Given the description of an element on the screen output the (x, y) to click on. 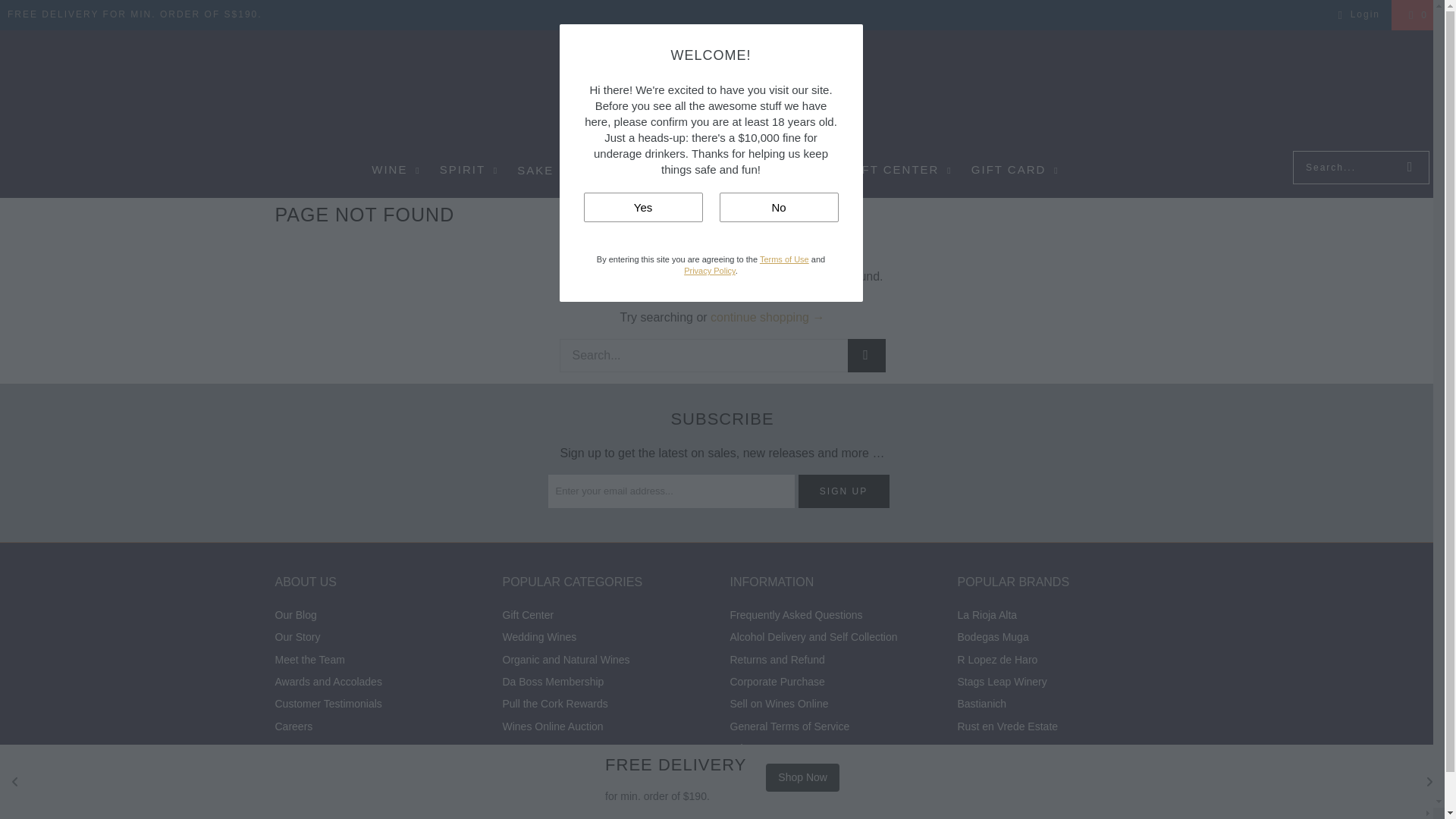
Sign Up (842, 491)
No (778, 206)
Mastercard (1032, 813)
PayPal (1072, 813)
My Account  (1356, 14)
Apple Pay (954, 813)
Google Pay (993, 813)
Visa (1150, 813)
Wines Online Singapore (721, 93)
Yes (643, 206)
Union Pay (1112, 813)
American Express (914, 813)
Shop Now (802, 776)
